Given the description of an element on the screen output the (x, y) to click on. 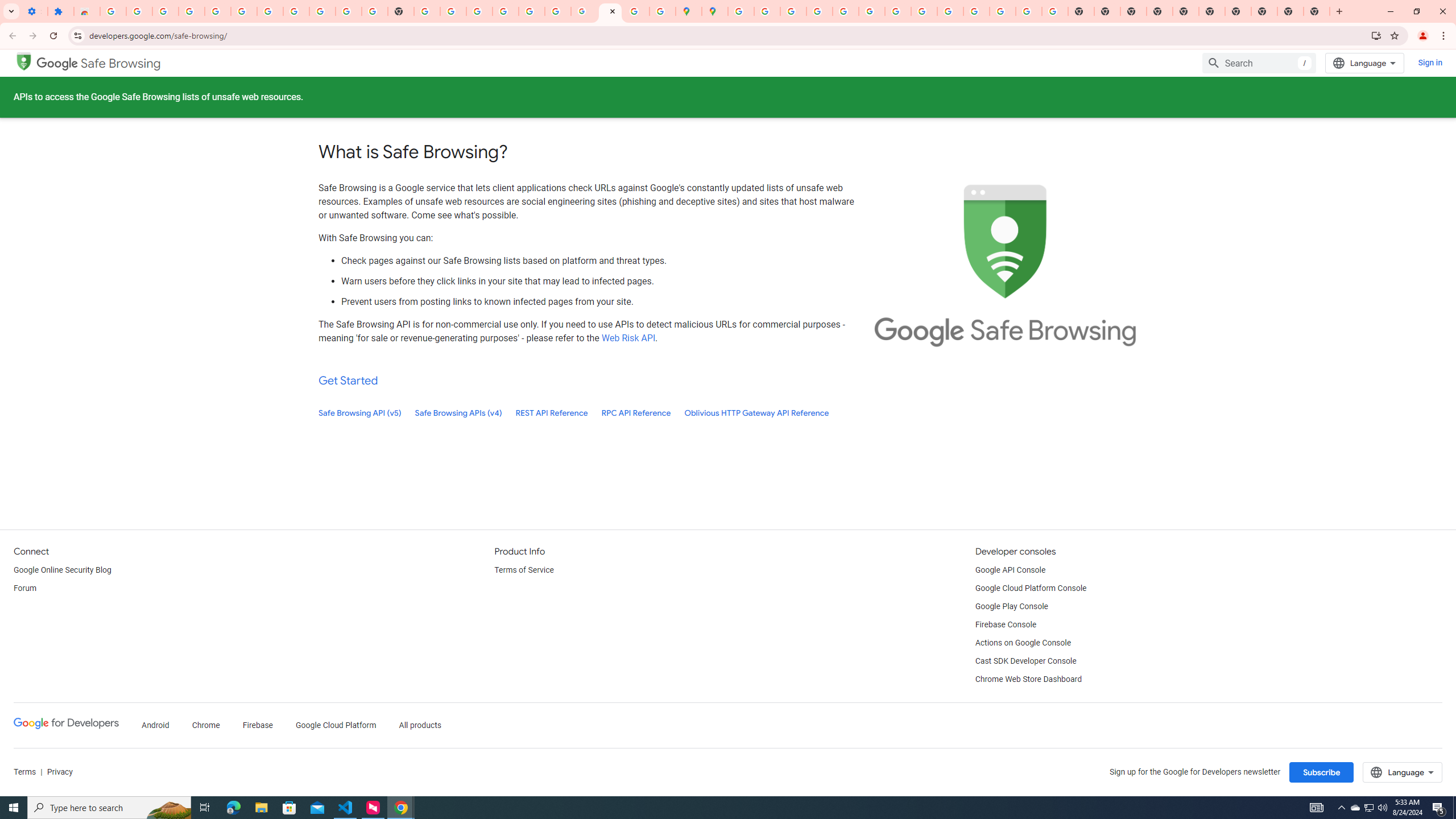
Terms of Service (523, 570)
Safe Browsing API (v5) (360, 412)
Chrome Web Store Dashboard (1028, 679)
Sign in - Google Accounts (740, 11)
Safety in Our Products - Google Safety Center (663, 11)
Sign in - Google Accounts (505, 11)
Google Cloud Platform Console (1030, 588)
Google Account (322, 11)
YouTube (897, 11)
Privacy (59, 772)
Android (154, 725)
